Given the description of an element on the screen output the (x, y) to click on. 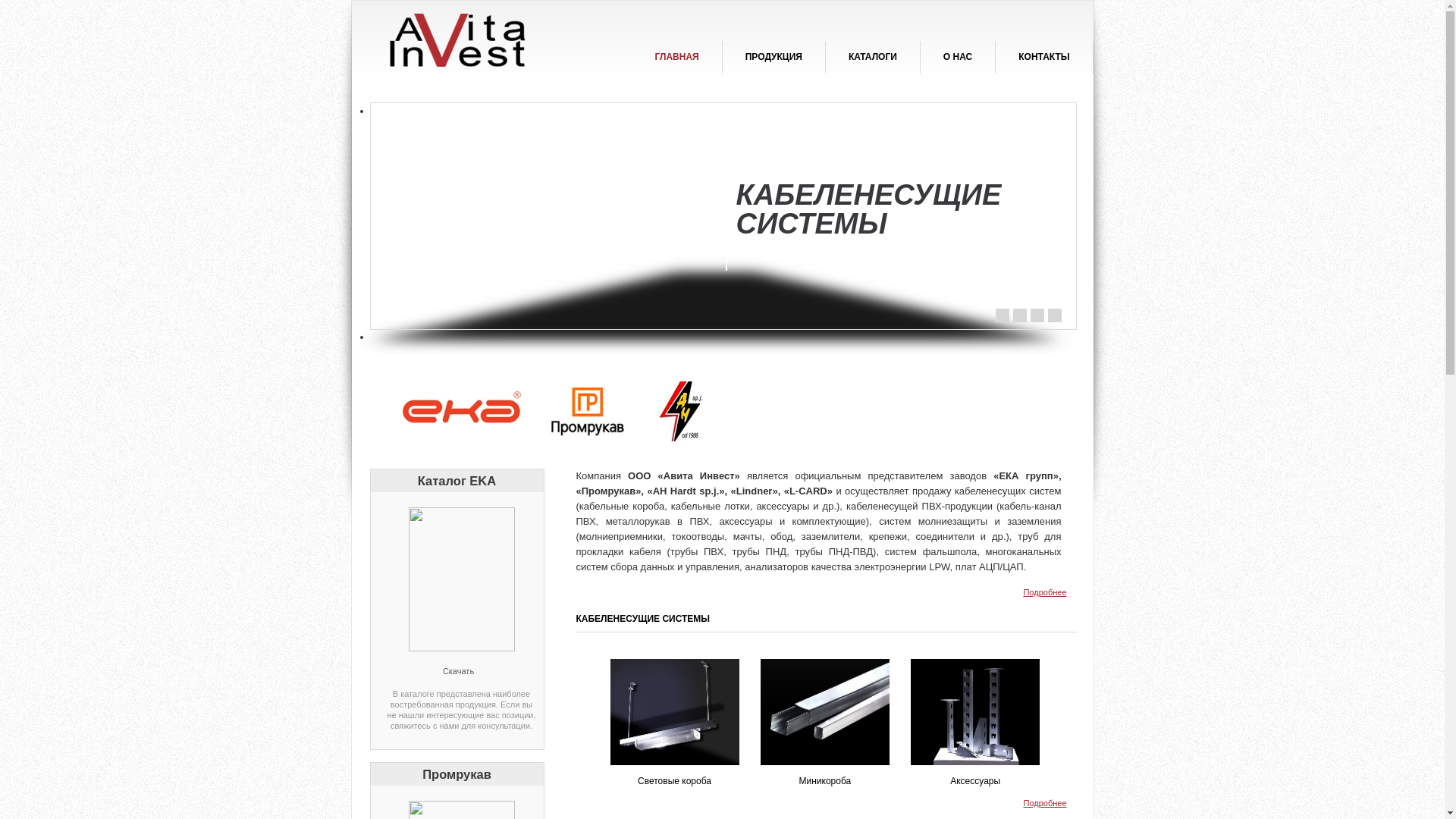
AvitaInvest Element type: text (486, 41)
1 Element type: text (1001, 315)
AH Hardt sp.j. Element type: hover (678, 411)
3 Element type: text (1036, 315)
2 Element type: text (1019, 315)
EKA Element type: hover (464, 411)
4 Element type: text (1054, 315)
